Given the description of an element on the screen output the (x, y) to click on. 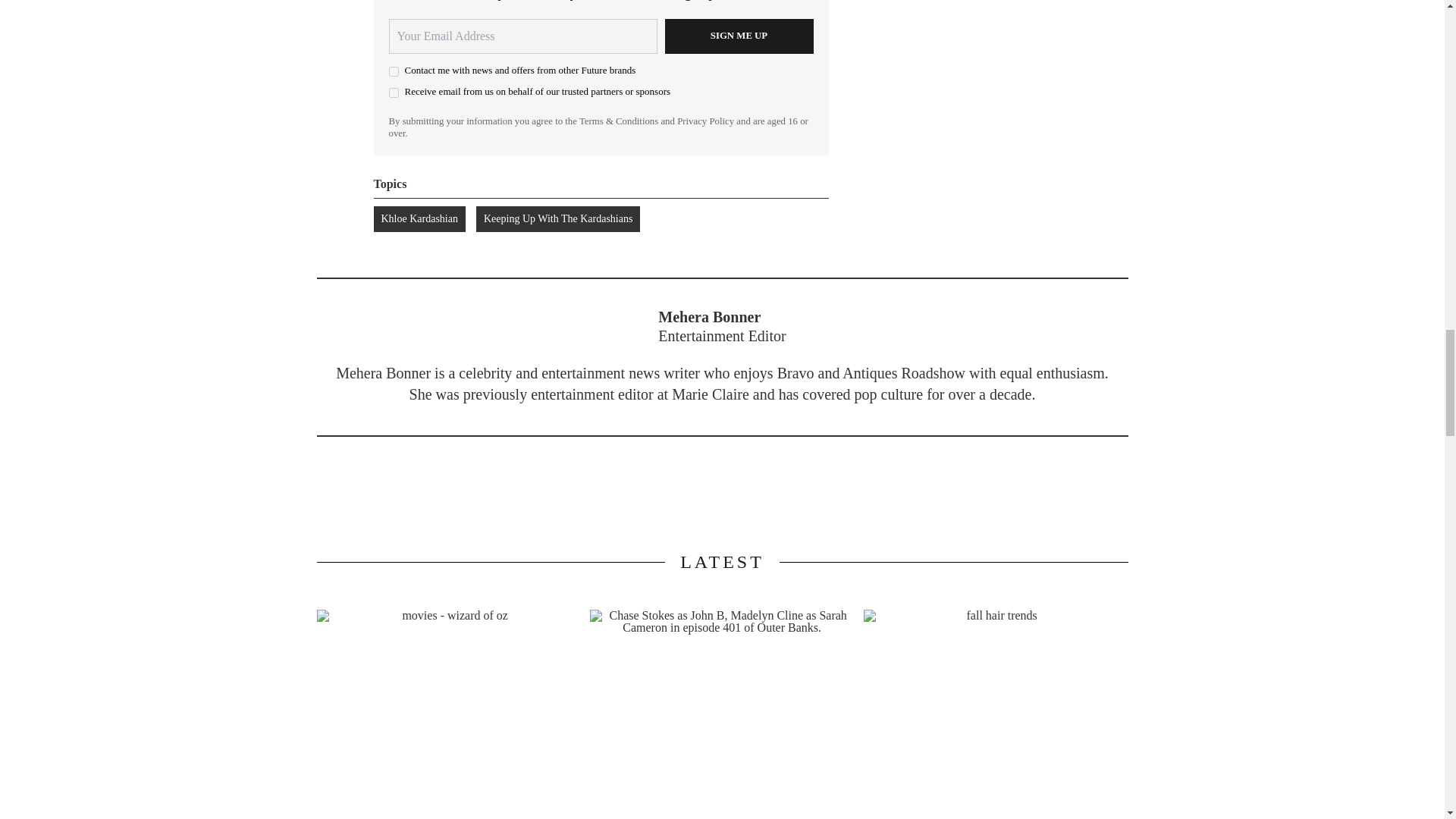
on (392, 71)
on (392, 92)
Sign me up (737, 36)
